Given the description of an element on the screen output the (x, y) to click on. 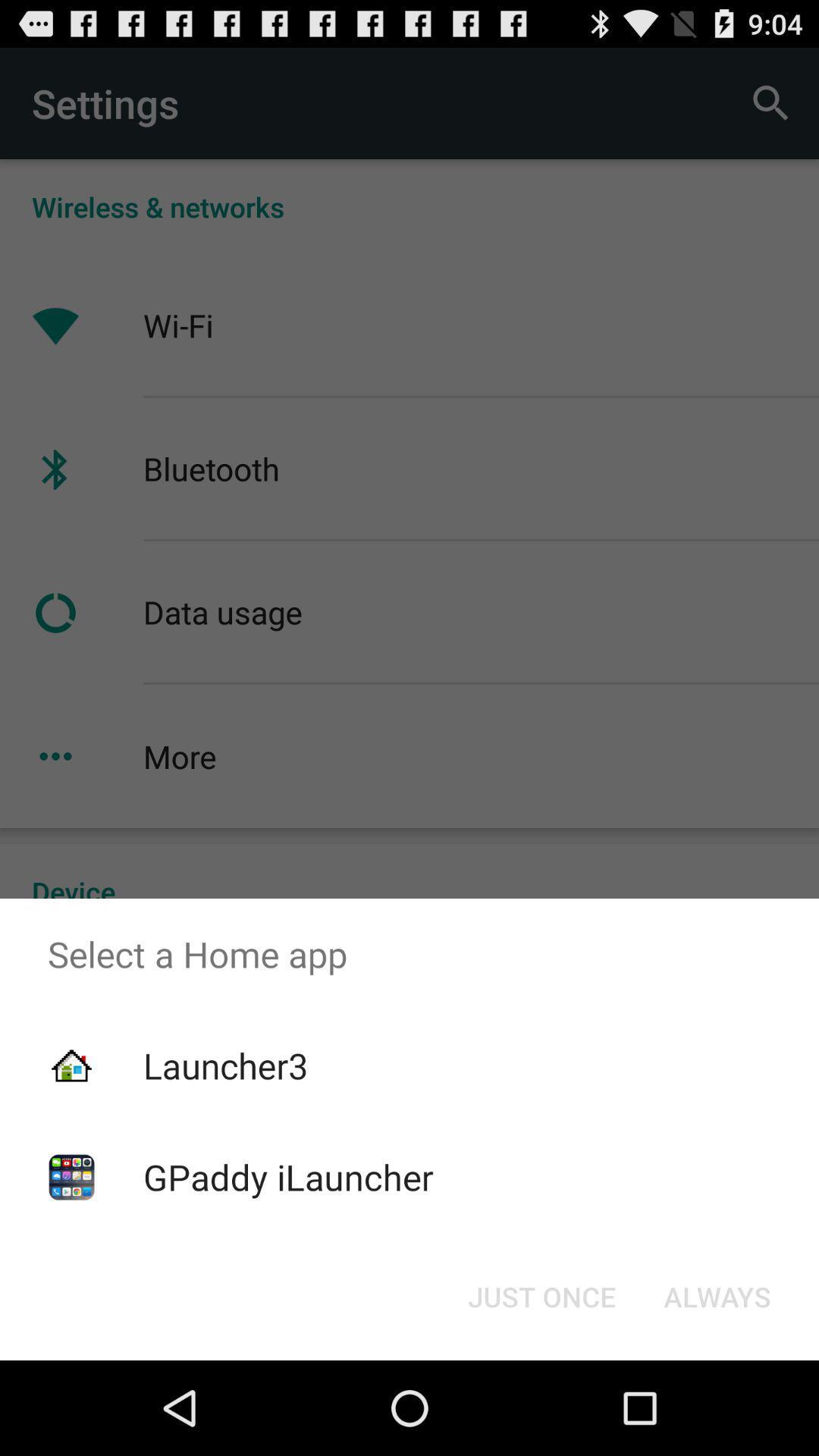
tap the icon to the left of the always item (541, 1296)
